Given the description of an element on the screen output the (x, y) to click on. 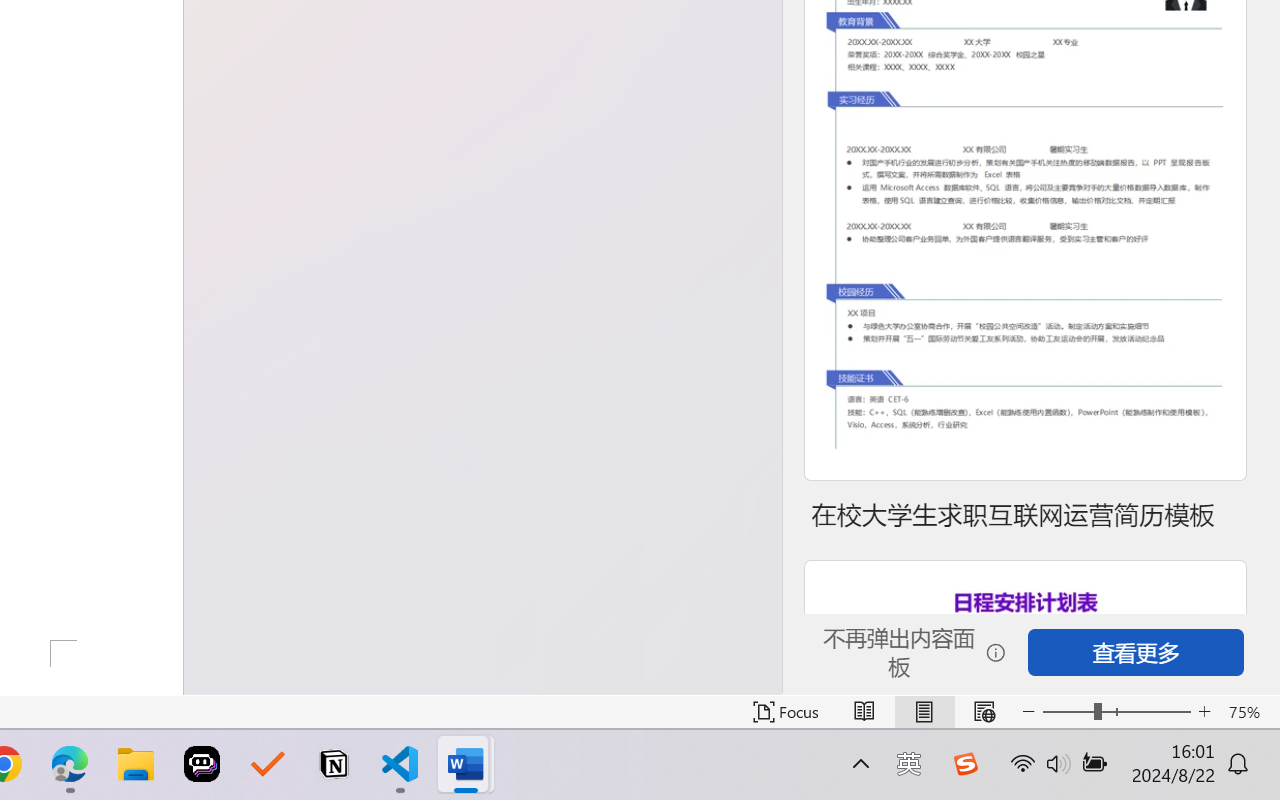
Focus  (786, 712)
Read Mode (864, 712)
Print Layout (924, 712)
Zoom Out (1067, 712)
Web Layout (984, 712)
Class: Image (965, 764)
Zoom In (1204, 712)
Zoom (1116, 712)
